Given the description of an element on the screen output the (x, y) to click on. 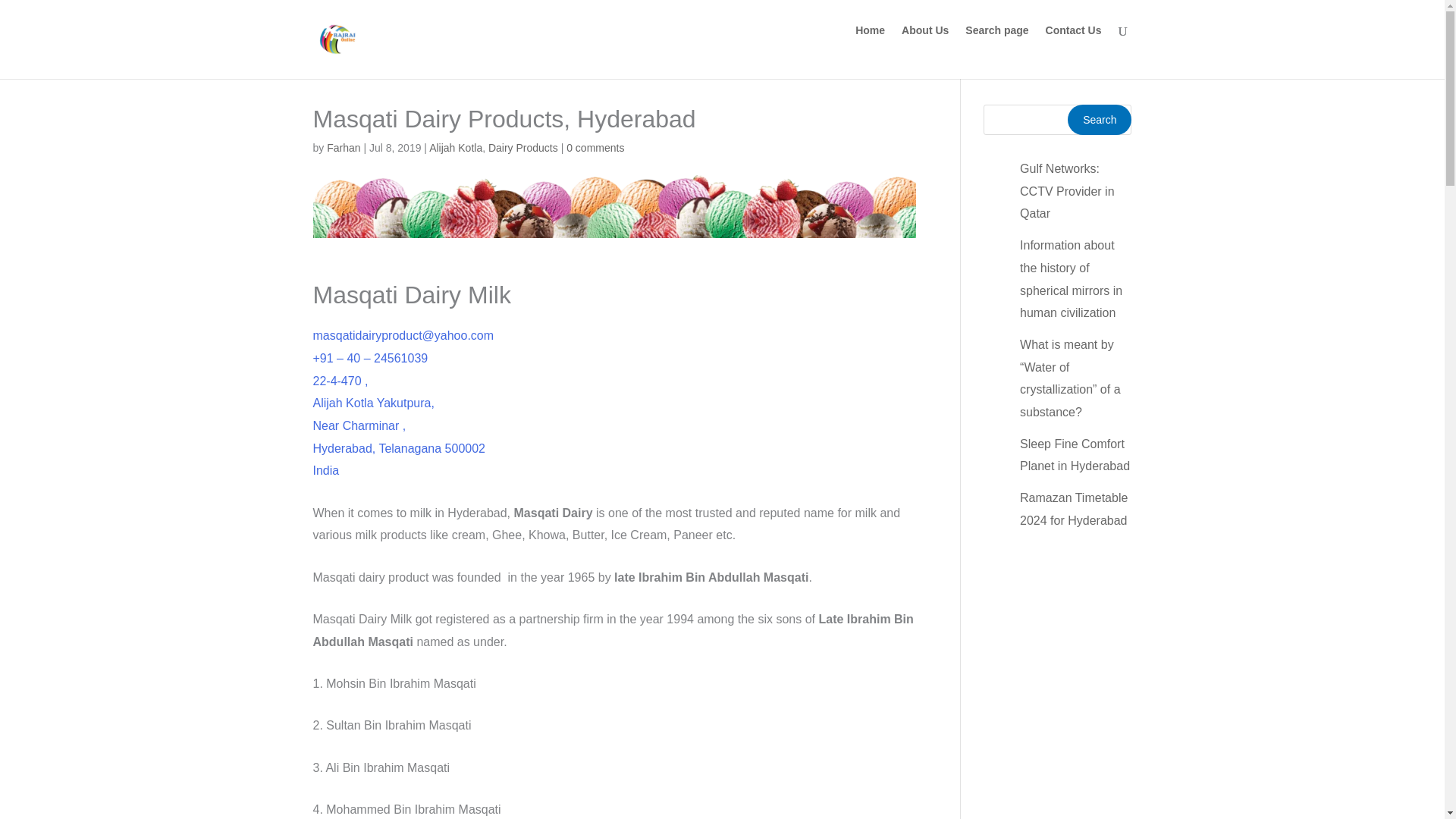
Search page (996, 42)
Dairy Products (522, 147)
Ramazan Timetable 2024 for Hyderabad (1073, 509)
Open address in Google Maps (614, 426)
Sleep Fine Comfort Planet in Hyderabad (1074, 455)
Search (1099, 119)
Farhan (342, 147)
Alijah Kotla (455, 147)
About Us (925, 42)
